Given the description of an element on the screen output the (x, y) to click on. 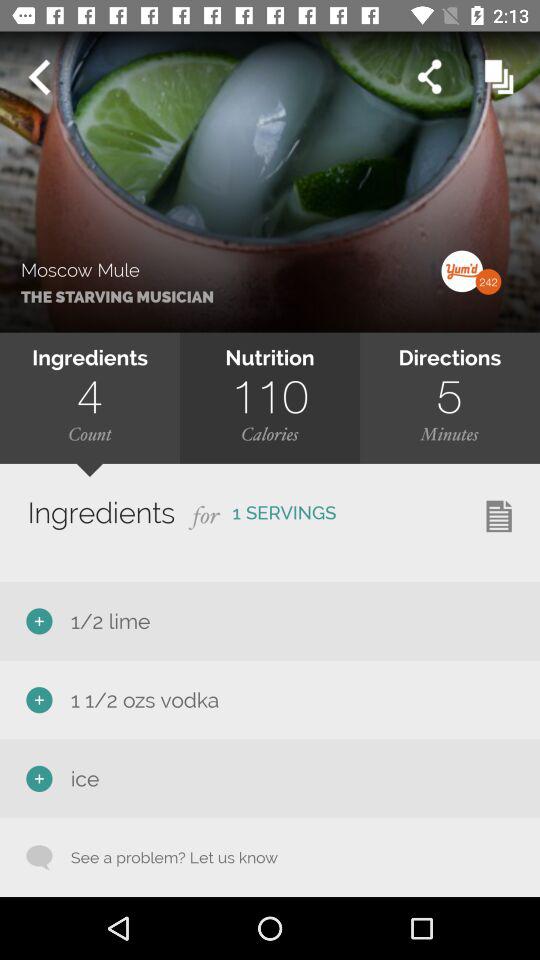
tap the icon above directions item (500, 294)
